Given the description of an element on the screen output the (x, y) to click on. 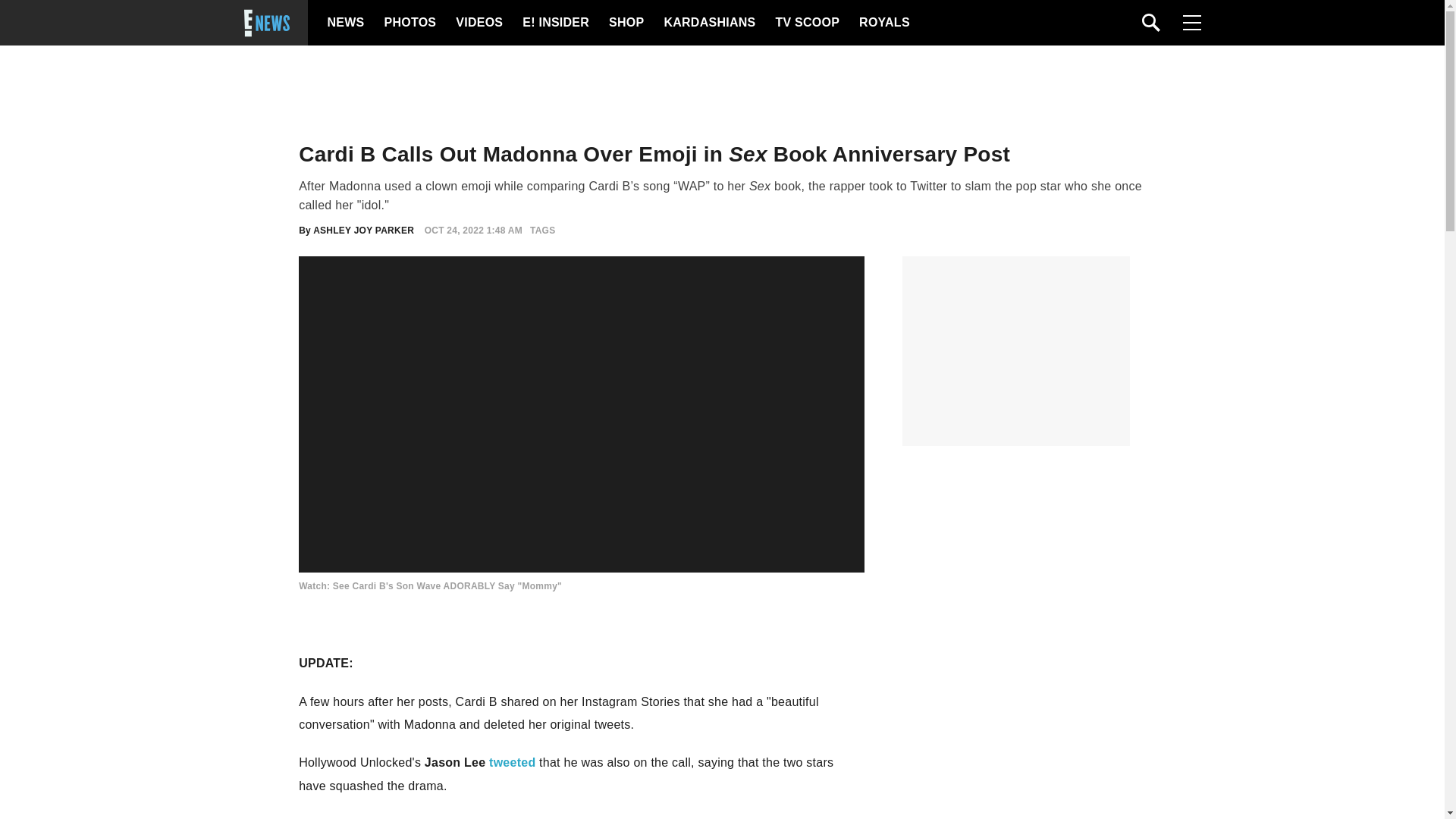
SHOP (625, 22)
tweeted (512, 762)
PHOTOS (408, 22)
KARDASHIANS (708, 22)
ASHLEY JOY PARKER (363, 230)
TV SCOOP (806, 22)
NEWS (345, 22)
ROYALS (883, 22)
E! INSIDER (555, 22)
VIDEOS (478, 22)
